Given the description of an element on the screen output the (x, y) to click on. 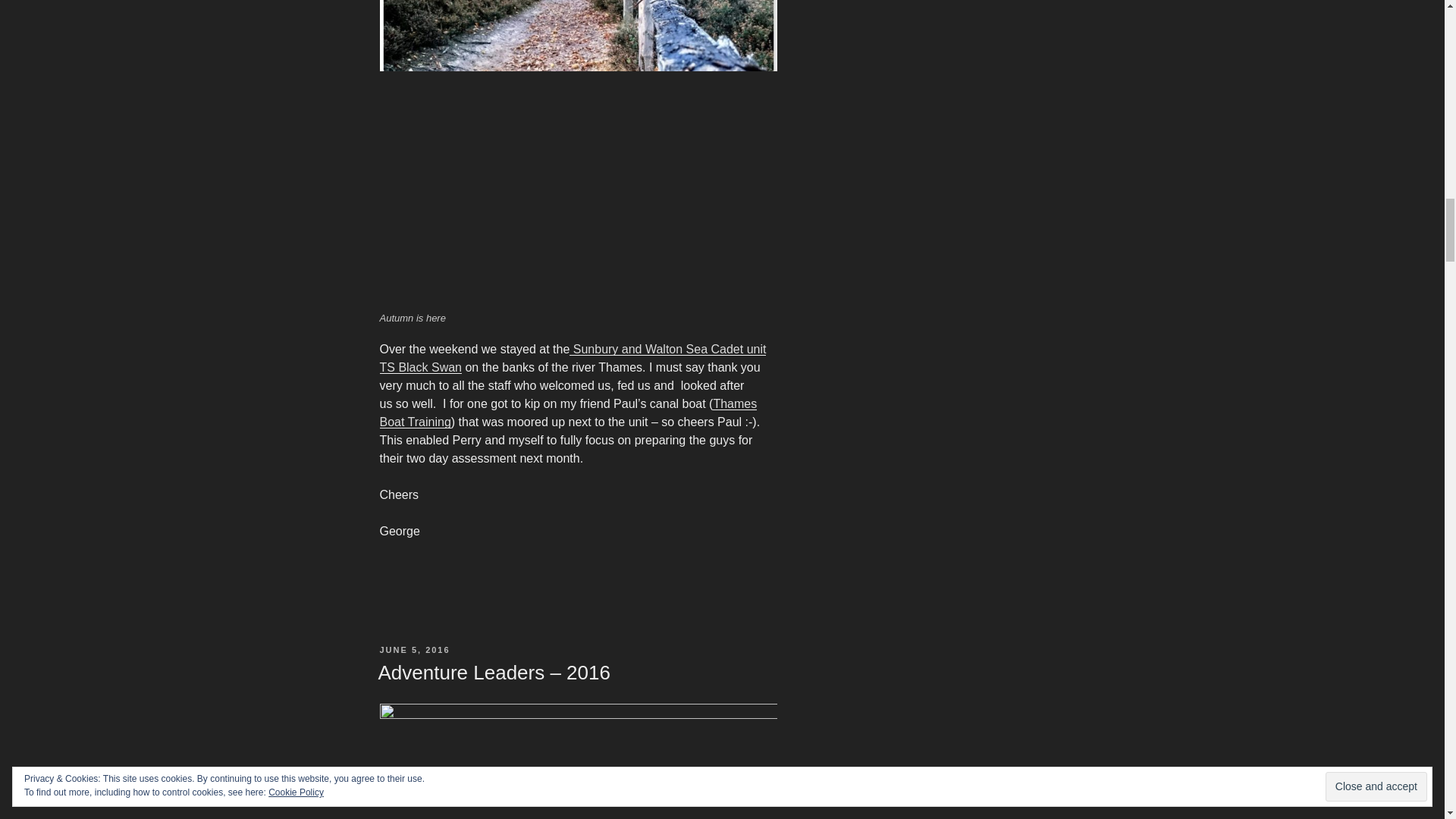
JUNE 5, 2016 (413, 649)
Sunbury and Walton Sea Cadet unit TS Black Swan (571, 358)
Thames Boat Training (567, 412)
